Given the description of an element on the screen output the (x, y) to click on. 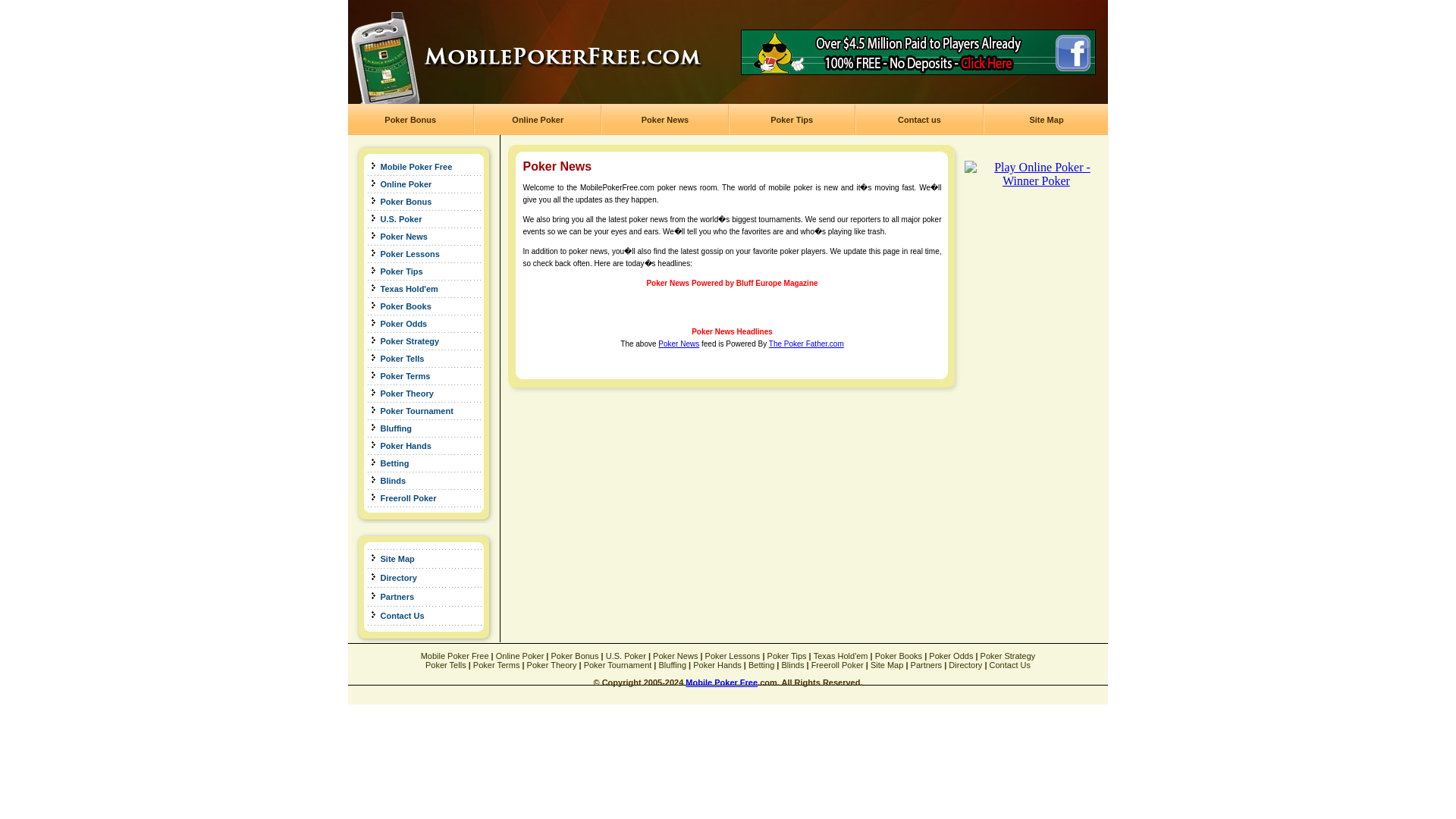
U.S. Poker (625, 655)
Mobile Poker Free (413, 166)
Contact Us (399, 614)
Poker Theory (403, 392)
The Poker Father.com (806, 343)
Poker News (678, 343)
Contact us (919, 119)
Poker Lessons (732, 655)
Site Map (394, 557)
Blinds (390, 480)
